Given the description of an element on the screen output the (x, y) to click on. 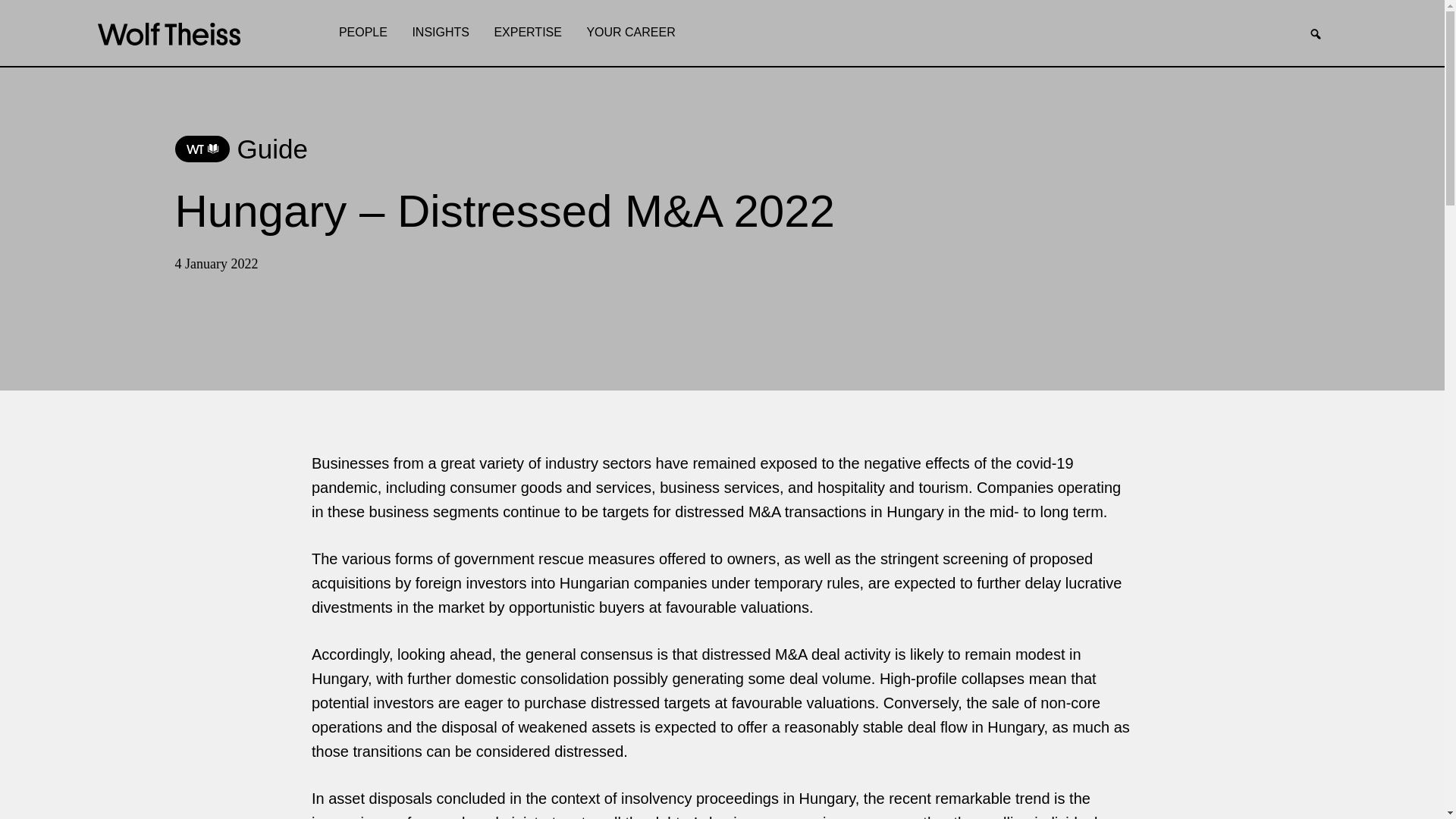
EXPERTISE (527, 32)
INSIGHTS (440, 32)
PEOPLE (363, 32)
